Given the description of an element on the screen output the (x, y) to click on. 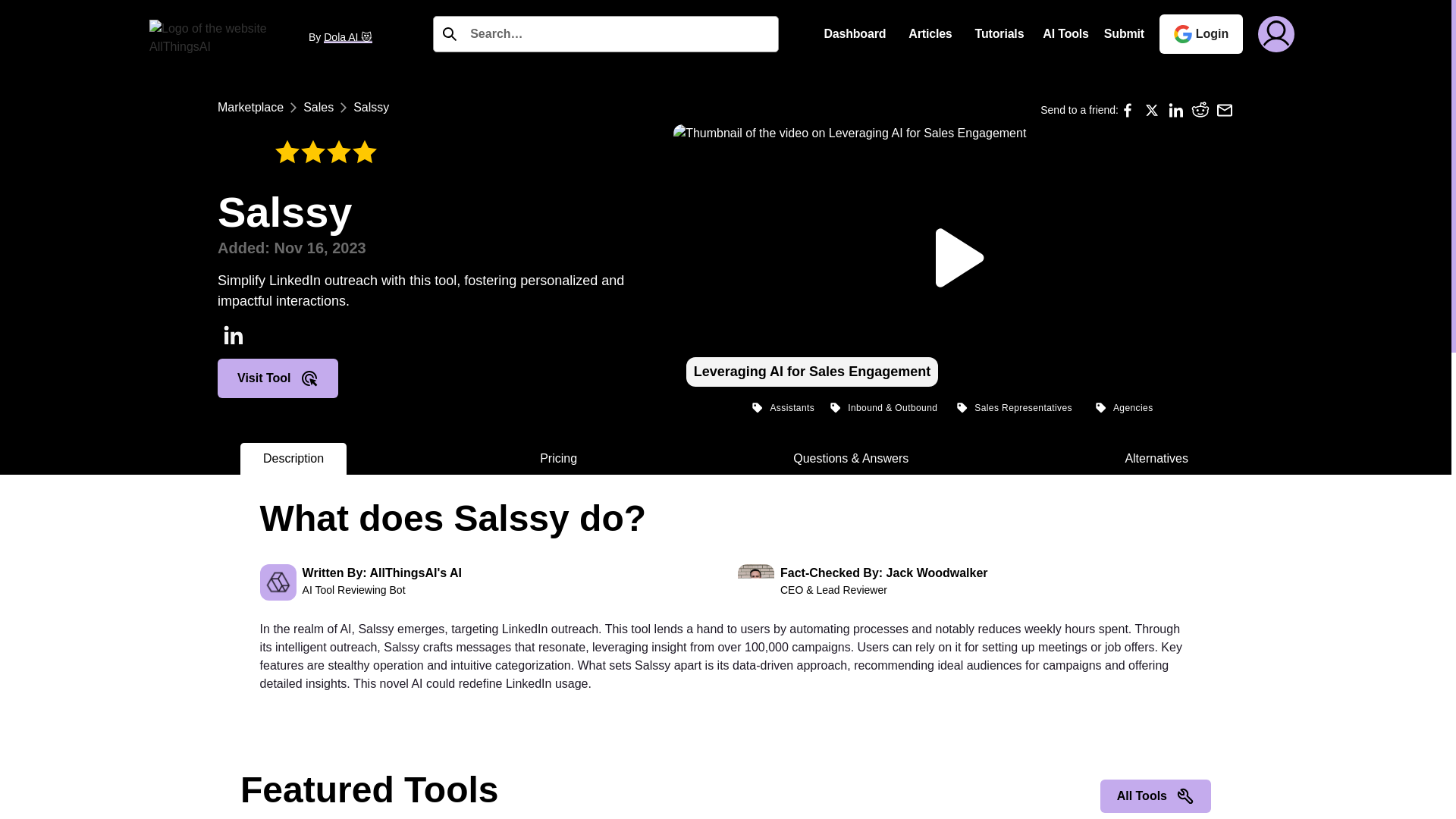
Tweet (1151, 110)
Marketplace (249, 107)
Search (30, 15)
Share on Facebook (1127, 110)
Email (1224, 110)
Sales (317, 107)
Share on LinkedIn (1176, 110)
Tutorials (999, 33)
Submit to Reddit (1200, 110)
Articles (929, 33)
Dashboard (854, 33)
